Given the description of an element on the screen output the (x, y) to click on. 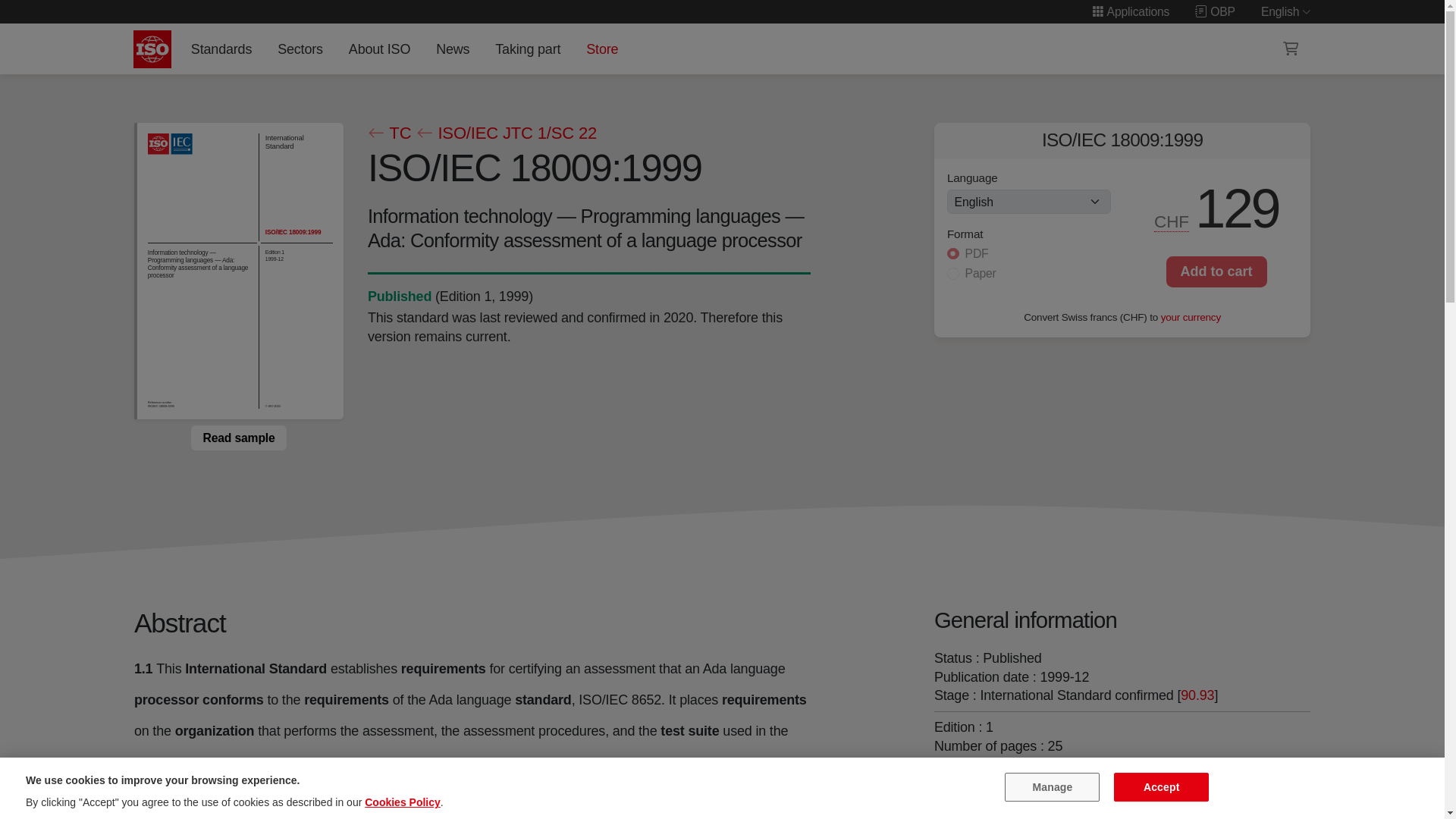
Swiss francs (1171, 221)
90.93 (1197, 694)
35.060 (988, 795)
ISO's applications portal (1130, 11)
News (452, 48)
Shopping cart (1290, 49)
 Applications (1130, 11)
Languages used in information technology (988, 795)
Add to cart (1216, 271)
About ISO (379, 48)
International Organization for Standardization (152, 48)
your currency (1190, 316)
